Given the description of an element on the screen output the (x, y) to click on. 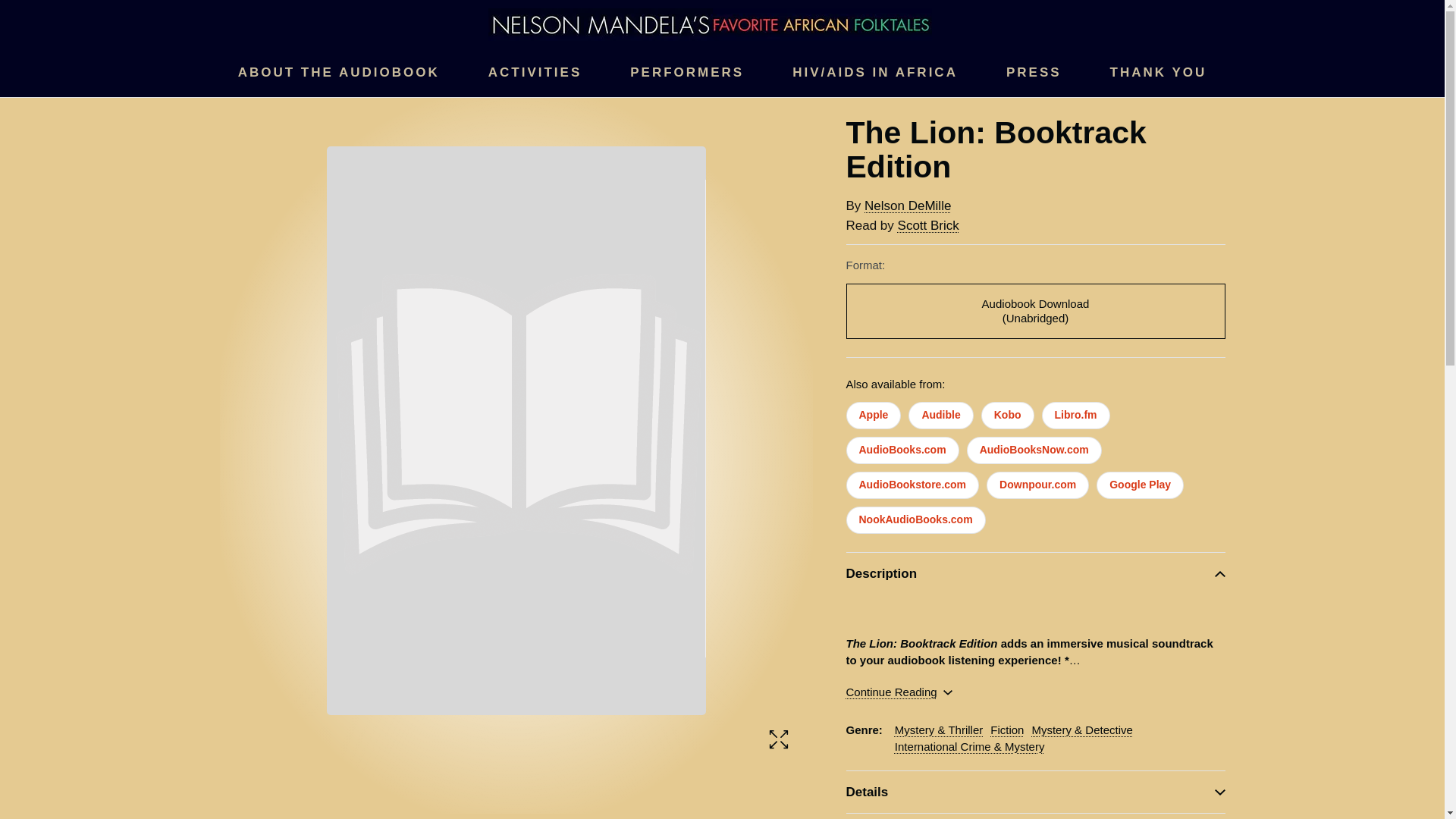
Open the full-size image (778, 739)
ACTIVITIES (534, 72)
Downpour.com (1038, 484)
THANK YOU (1158, 72)
Apple (873, 415)
PRESS (1033, 72)
Fiction (1006, 729)
PERFORMERS (687, 72)
ABOUT THE AUDIOBOOK (338, 72)
Nelson DeMille (907, 205)
NookAudioBooks.com (915, 519)
Libro.fm (1075, 415)
Audible (940, 415)
AudioBookstore.com (912, 484)
Scott Brick (928, 225)
